Given the description of an element on the screen output the (x, y) to click on. 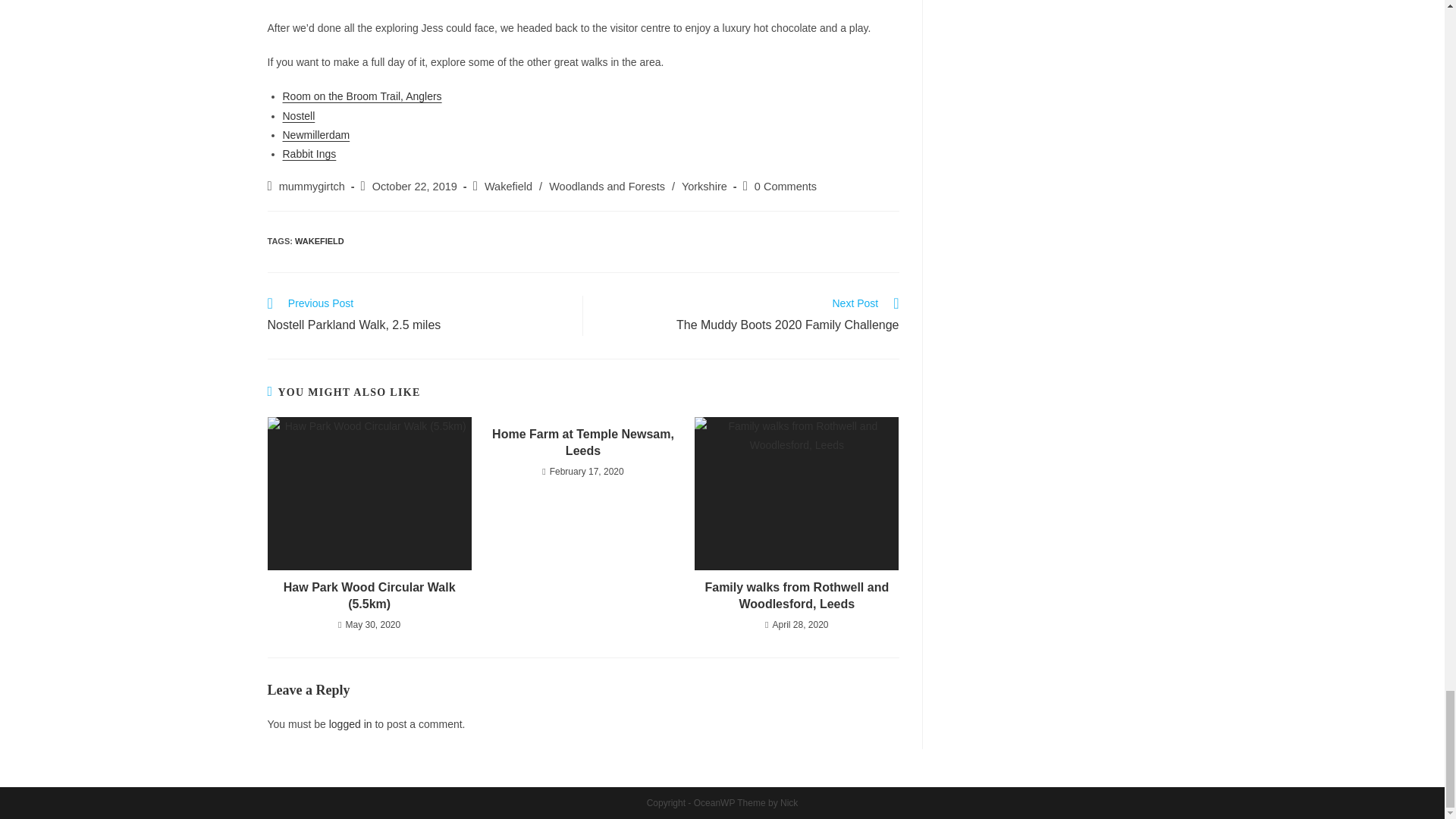
Woodlands and Forests (606, 186)
Home Farm at Temple Newsam, Leeds (582, 442)
Wakefield (508, 186)
Rabbit Ings (309, 153)
Newmillerdam (315, 134)
mummygirtch (312, 186)
Room on the Broom Trail, Anglers (361, 96)
Posts by mummygirtch (312, 186)
Family walks from Rothwell and Woodlesford, Leeds (796, 596)
Nostell (298, 115)
